Given the description of an element on the screen output the (x, y) to click on. 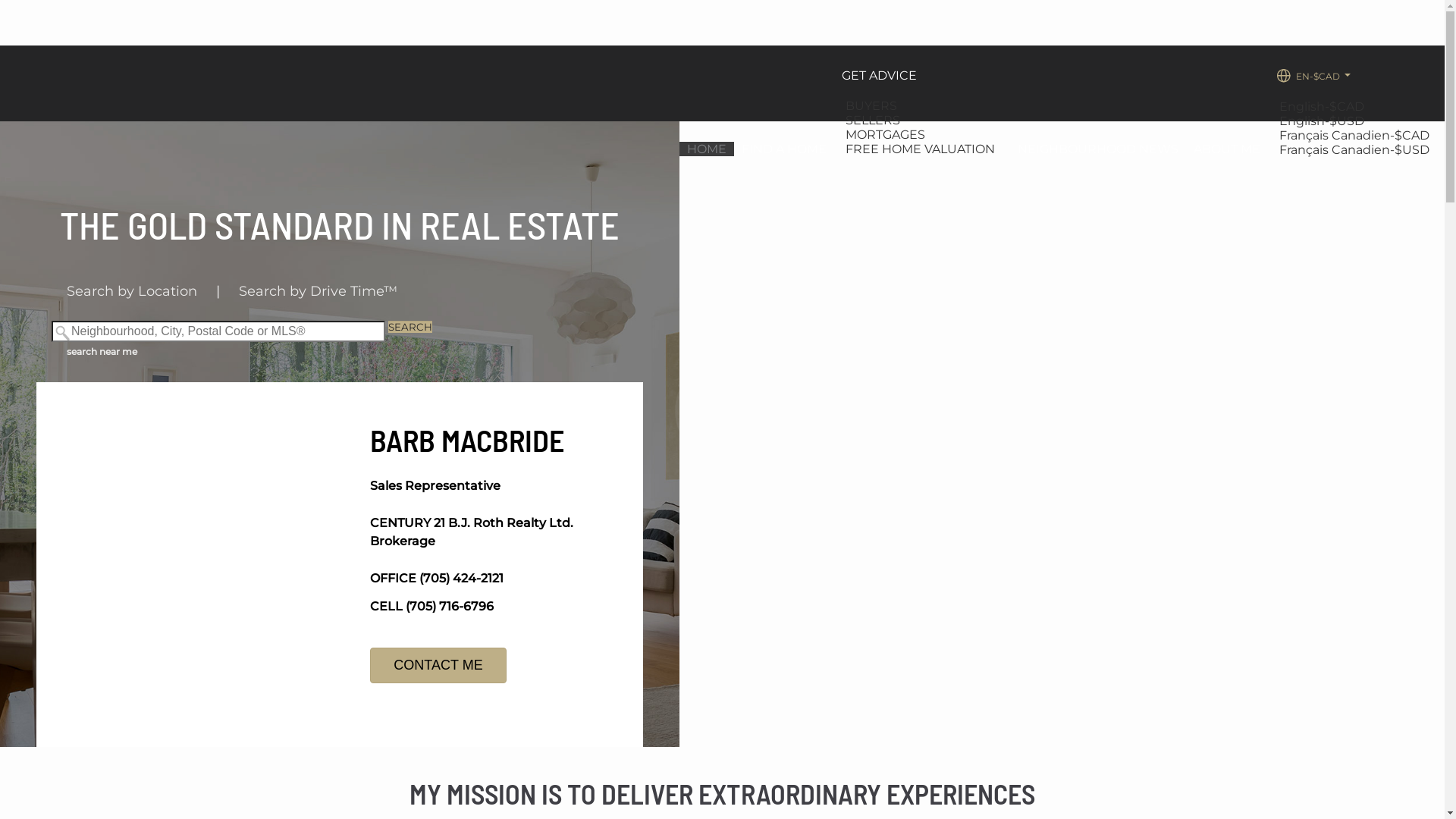
(705) 424-2121 Element type: text (461, 578)
English-$USD Element type: text (1323, 120)
GET ADVICE Element type: text (879, 75)
CONTACT ME Element type: text (438, 665)
EN-$CAD Element type: text (1312, 75)
MORTGAGES Element type: text (887, 134)
BUYERS Element type: text (873, 105)
FREE HOME VALUATION Element type: text (922, 148)
NEIGHBOURHOOD NEWS Element type: text (1098, 148)
FIND A HOME Element type: text (784, 148)
(705) 716-6796 Element type: text (449, 606)
ABOUT ME Element type: text (1226, 148)
HOME Element type: text (706, 148)
English-$CAD Element type: text (1323, 106)
SELLERS Element type: text (874, 119)
Search Element type: text (410, 326)
